Given the description of an element on the screen output the (x, y) to click on. 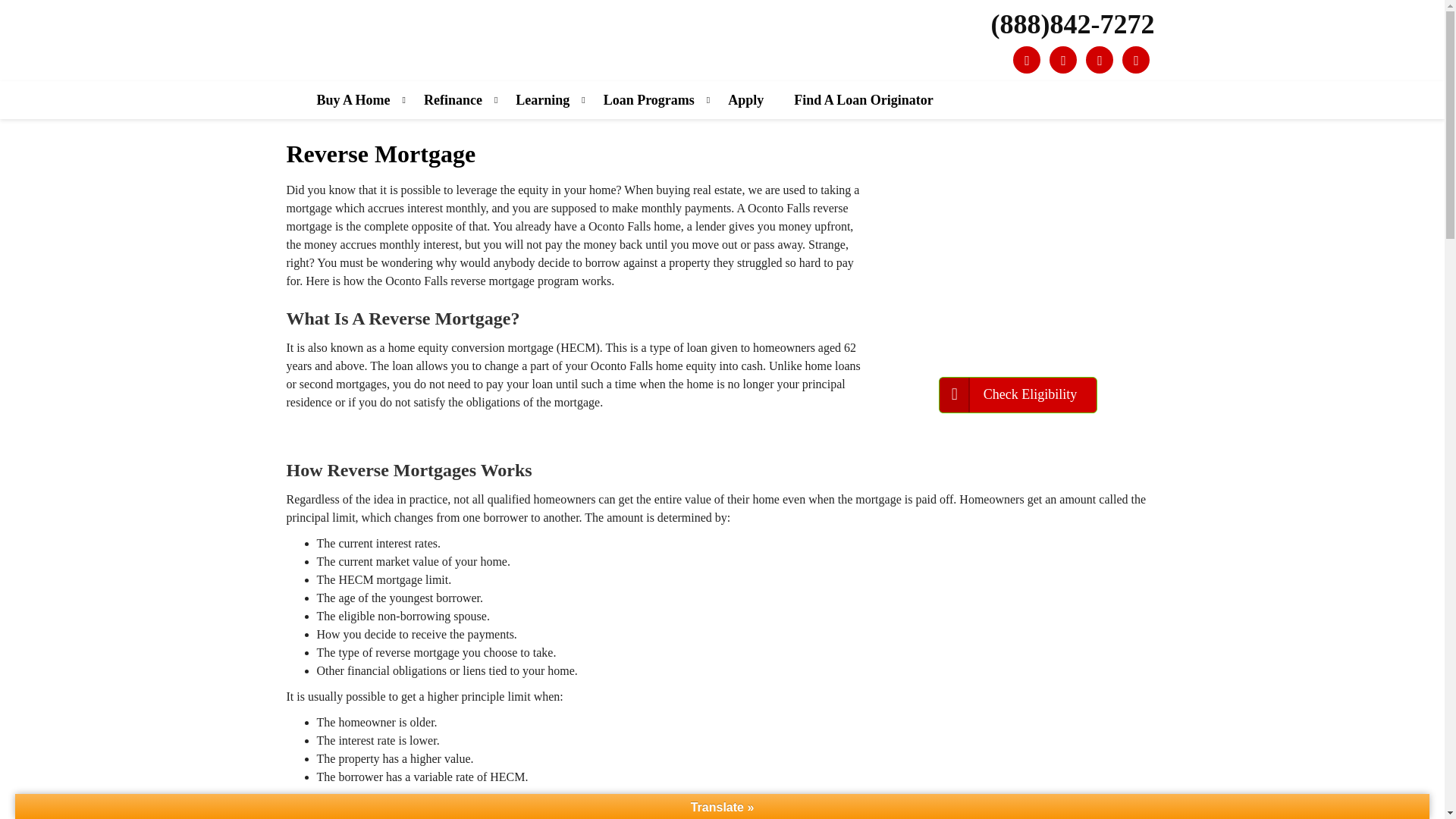
Find A Loan Originator (863, 99)
Loan Programs (649, 99)
Buy a Home (353, 99)
Check Eligibility (1018, 394)
Learning (542, 99)
Buy A Home (353, 99)
Loan Programs (649, 99)
Apply (745, 99)
Learning (542, 99)
Refinance (453, 99)
